Given the description of an element on the screen output the (x, y) to click on. 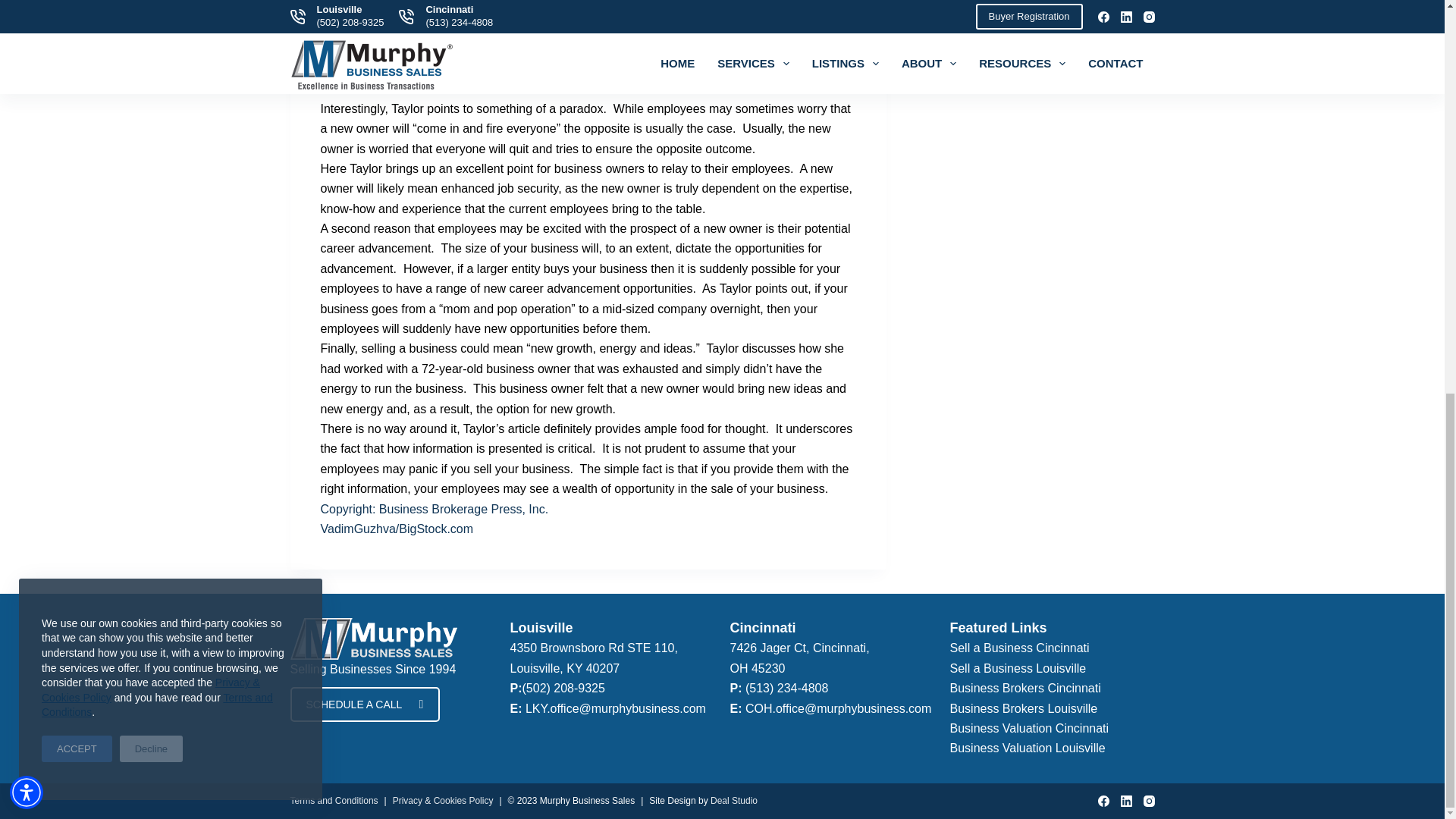
Accessibility Menu (26, 35)
